Given the description of an element on the screen output the (x, y) to click on. 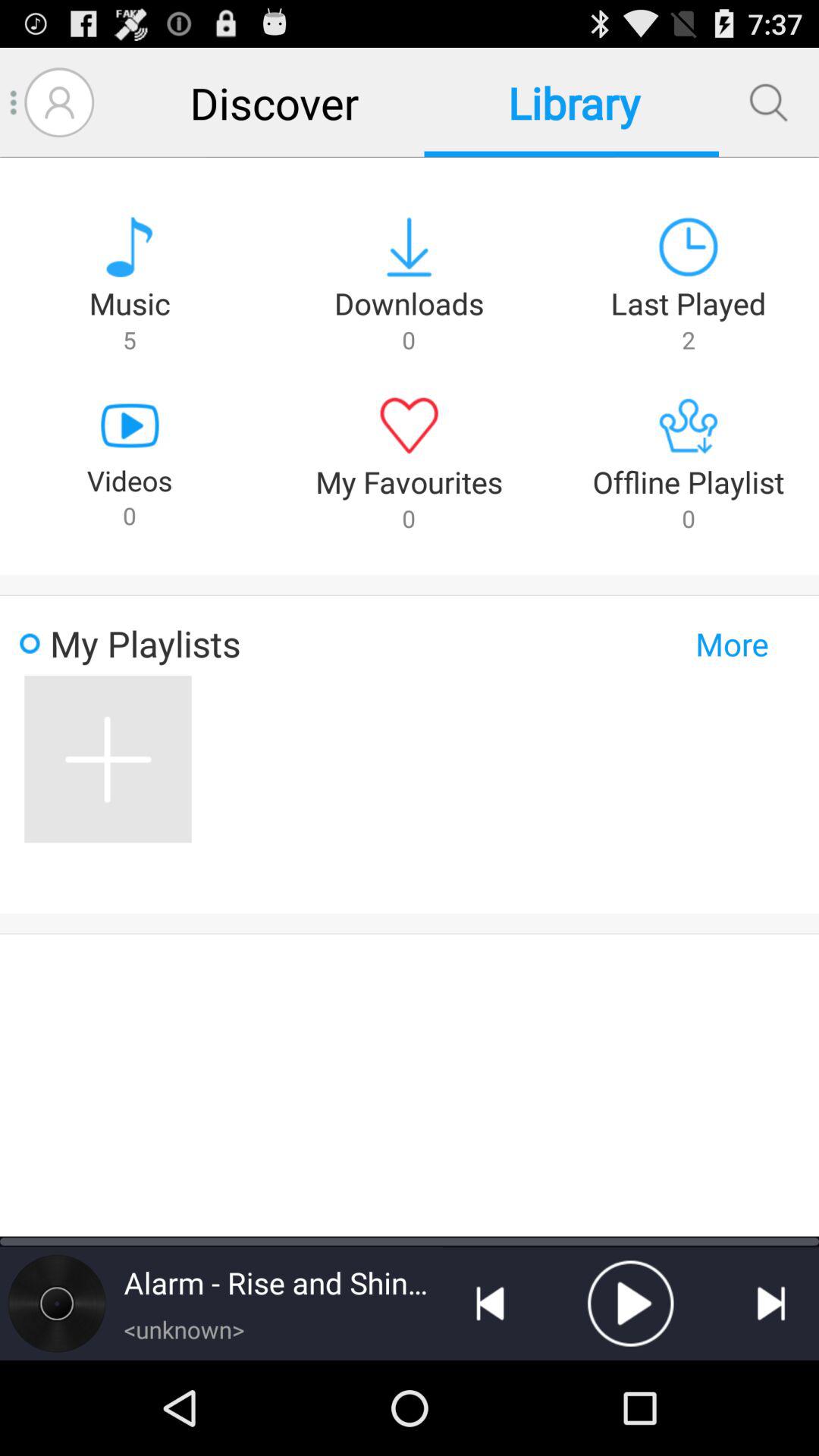
tap item next to the more button (107, 758)
